Given the description of an element on the screen output the (x, y) to click on. 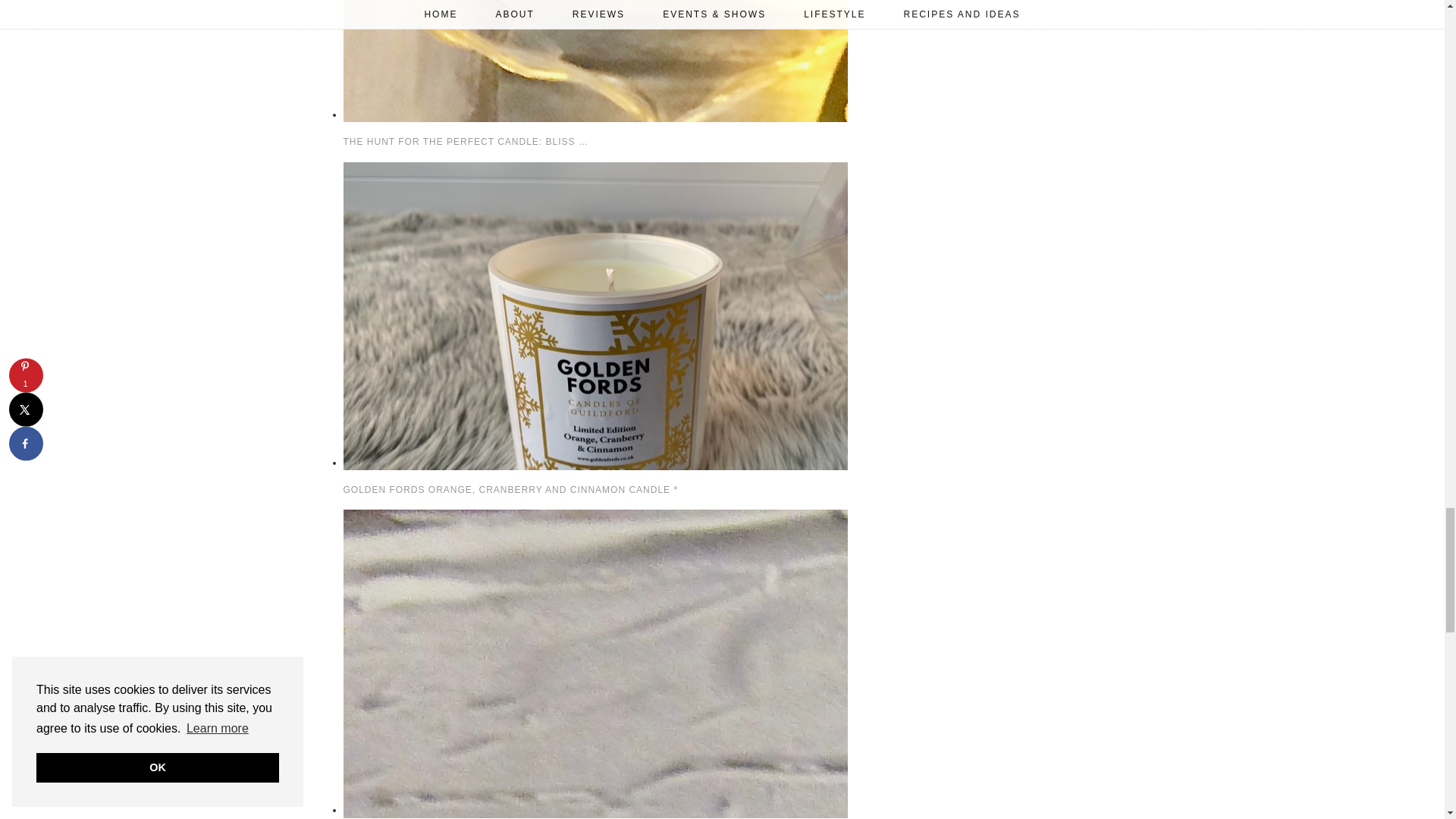
The Hunt for the Perfect Candle: Bliss and Bling Candles (569, 113)
The Hunt for the Perfect Candle: Bliss and Bling Candles (465, 141)
Queen of Tarts Snow Fairie Wax Melt Dupe (569, 809)
